Given the description of an element on the screen output the (x, y) to click on. 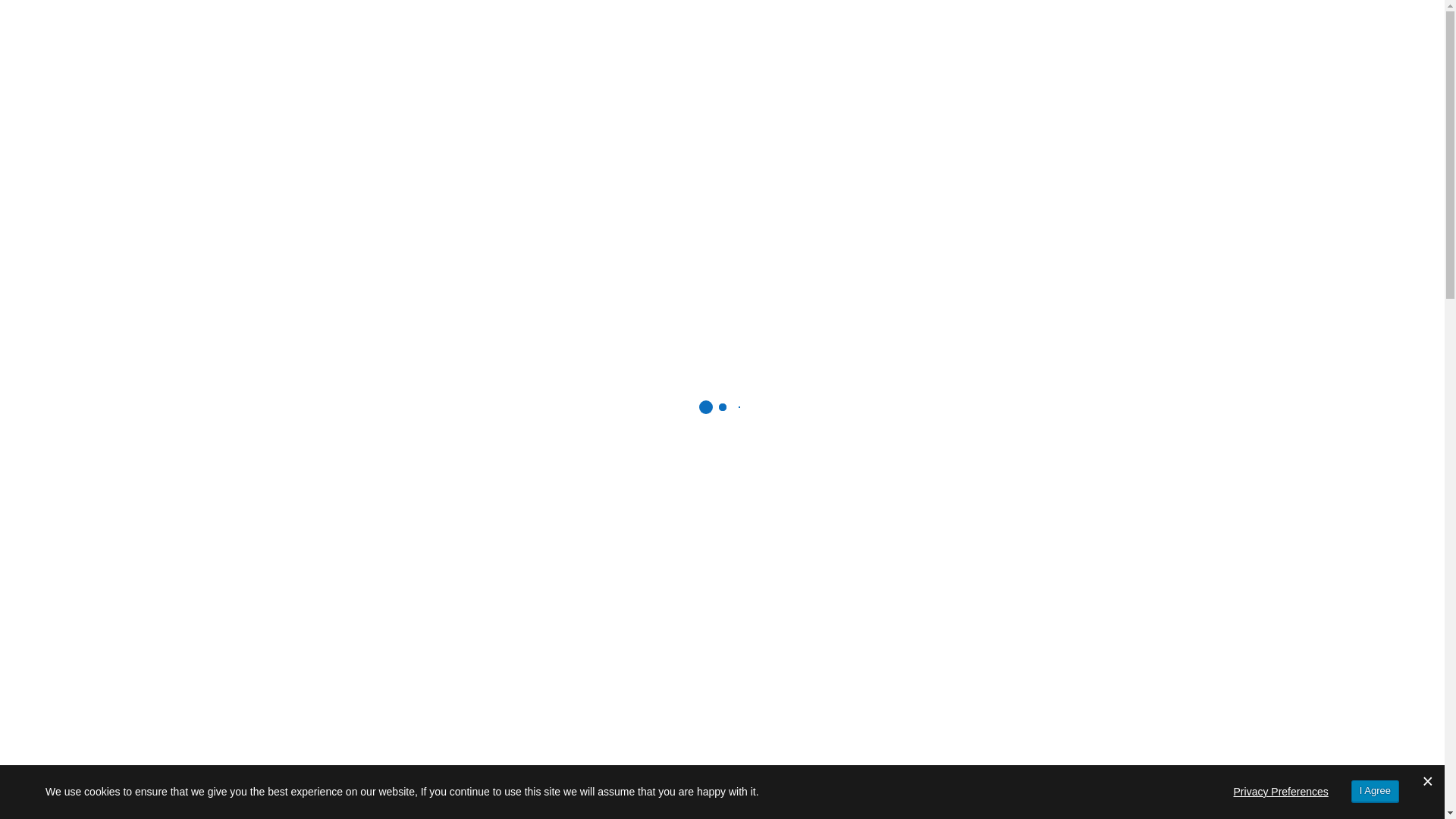
Sustainability Linked Invoice Funding Element type: text (587, 134)
Networks Element type: text (579, 185)
Working Capital Solutions Element type: text (371, 134)
Payables funding Element type: text (778, 134)
info@flexiblecapital.com.au Element type: text (682, 88)
Commercial Finance Element type: text (354, 185)
I Agree Element type: text (1375, 791)
Digital Trade Solutions Element type: text (926, 134)
Privacy Preferences Element type: text (1281, 791)
+61 1300 235 394 Element type: text (841, 88)
Member Directory Element type: text (390, 365)
The Real COST of Doing Business Element type: text (1059, 643)
Home Element type: text (313, 365)
Flexible Capital Element type: hover (332, 32)
Private Equity Element type: text (484, 185)
